Given the description of an element on the screen output the (x, y) to click on. 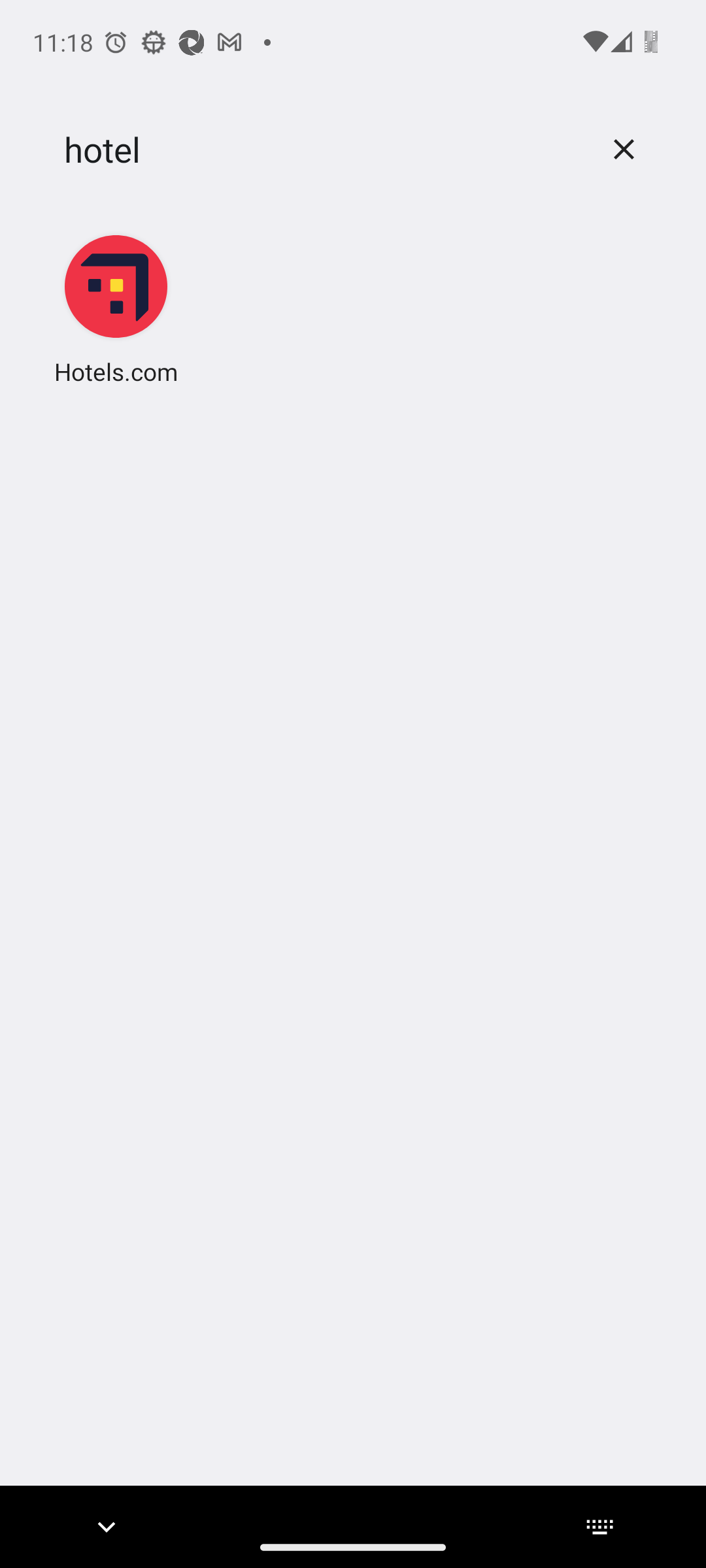
hotel (321, 149)
Clear search box (623, 149)
Hotels.com (115, 308)
